Given the description of an element on the screen output the (x, y) to click on. 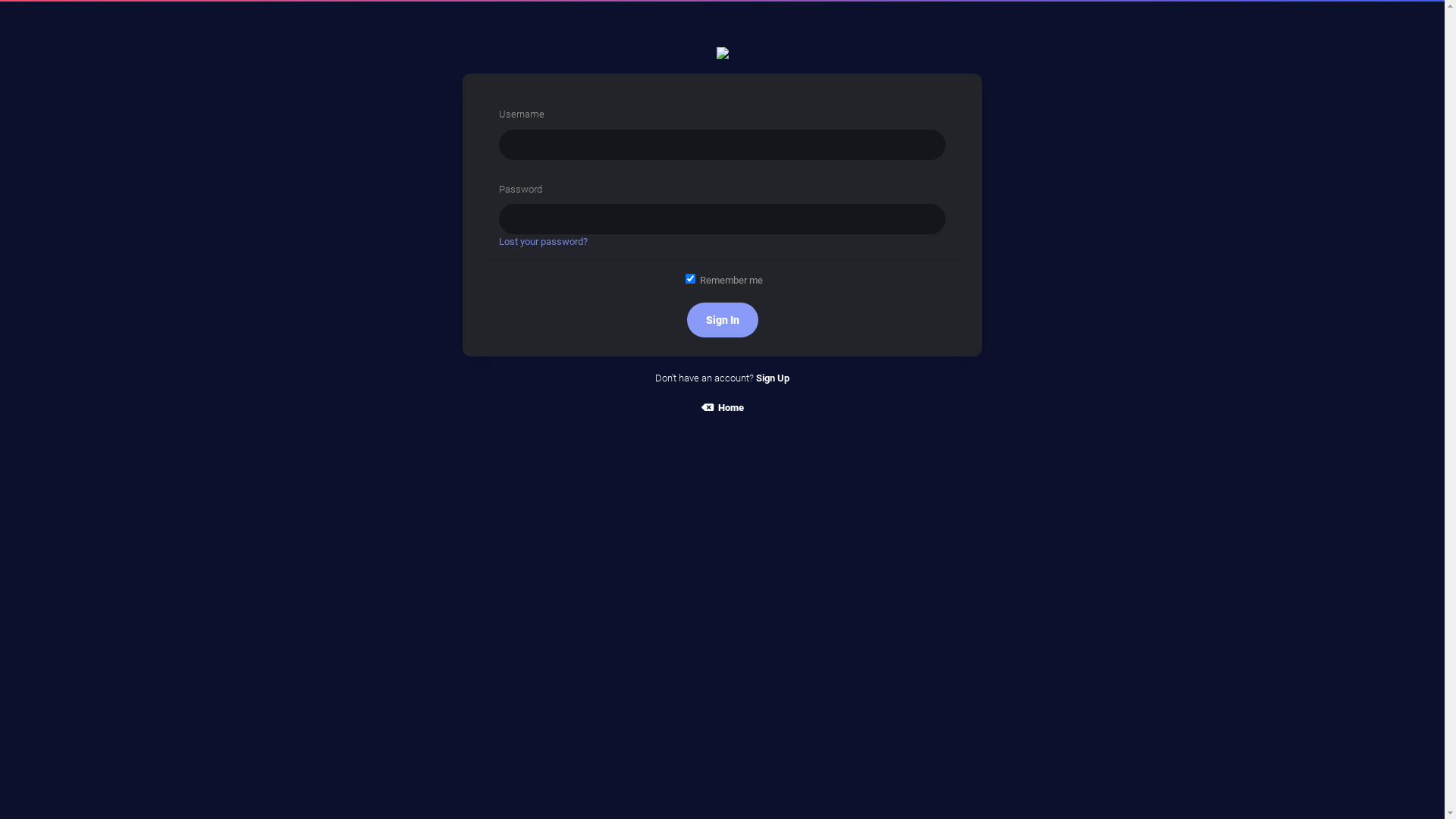
  Home Element type: text (721, 407)
Sign Up Element type: text (772, 377)
Sign In Element type: text (722, 319)
Lost your password? Element type: text (542, 241)
